Given the description of an element on the screen output the (x, y) to click on. 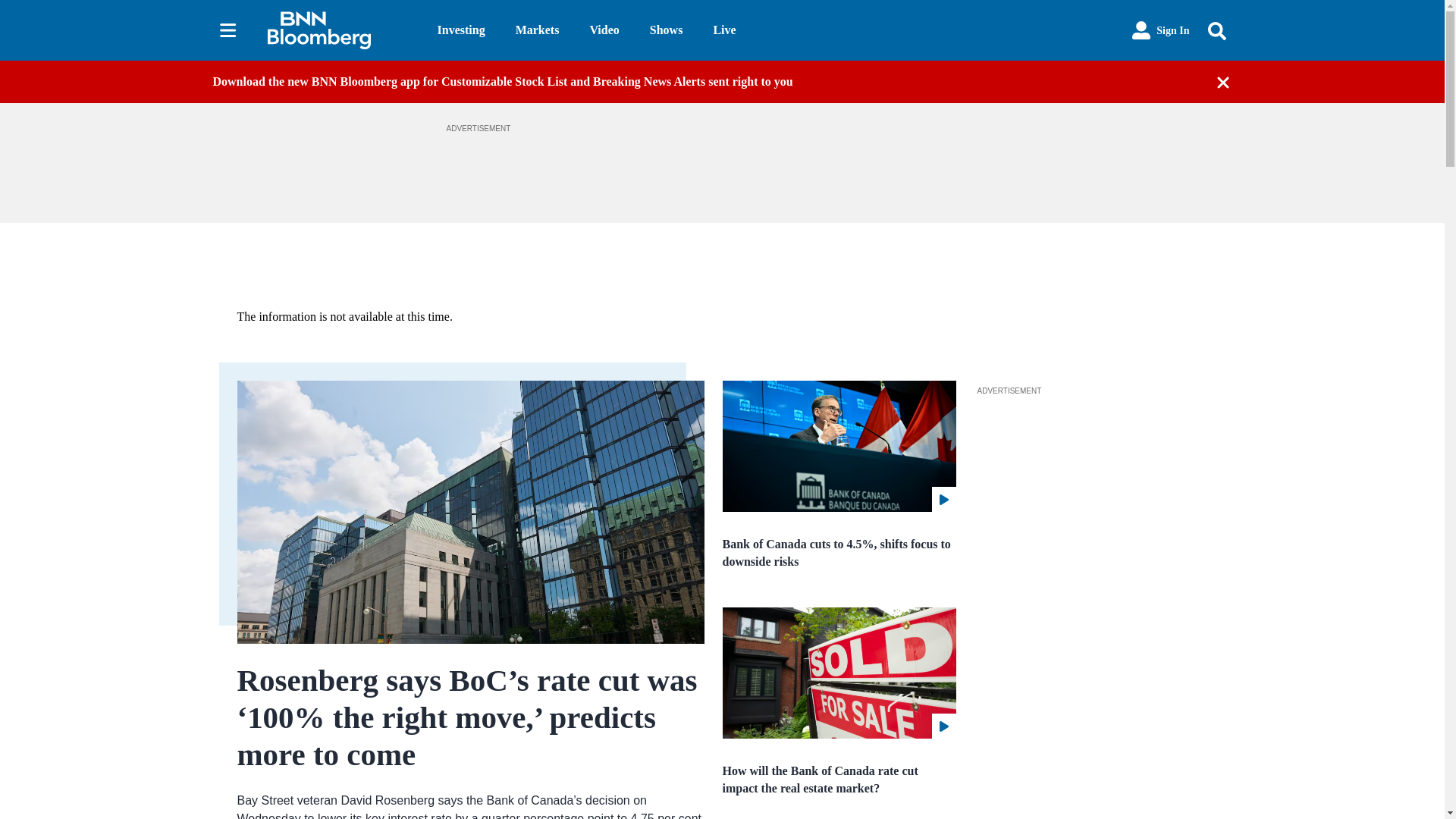
Live (724, 30)
BNN Bloomberg (339, 30)
Video (603, 30)
Shows (665, 30)
3rd party ad content (1090, 493)
Investing (460, 30)
Sign In (1160, 30)
Markets (537, 30)
Sections (227, 30)
